Given the description of an element on the screen output the (x, y) to click on. 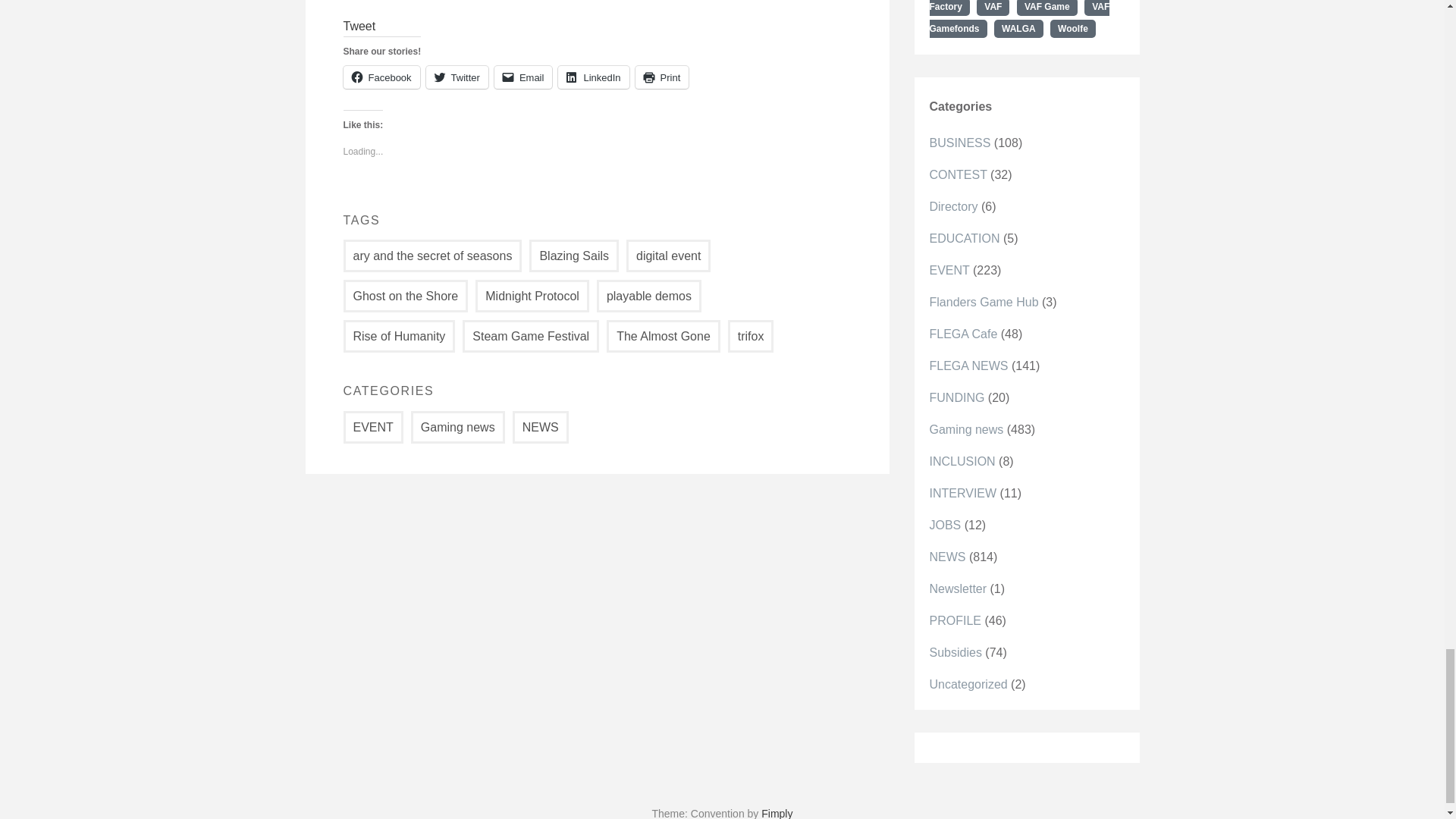
Email (524, 77)
Facebook (380, 77)
Rise of Humanity (398, 336)
Ghost on the Shore (404, 296)
Click to email a link to a friend (524, 77)
Blazing Sails (573, 255)
Midnight Protocol (532, 296)
digital event (668, 255)
Steam Game Festival (530, 336)
playable demos (648, 296)
trifox (751, 336)
LinkedIn (592, 77)
NEWS (540, 427)
Tweet (358, 25)
Click to share on Twitter (456, 77)
